Given the description of an element on the screen output the (x, y) to click on. 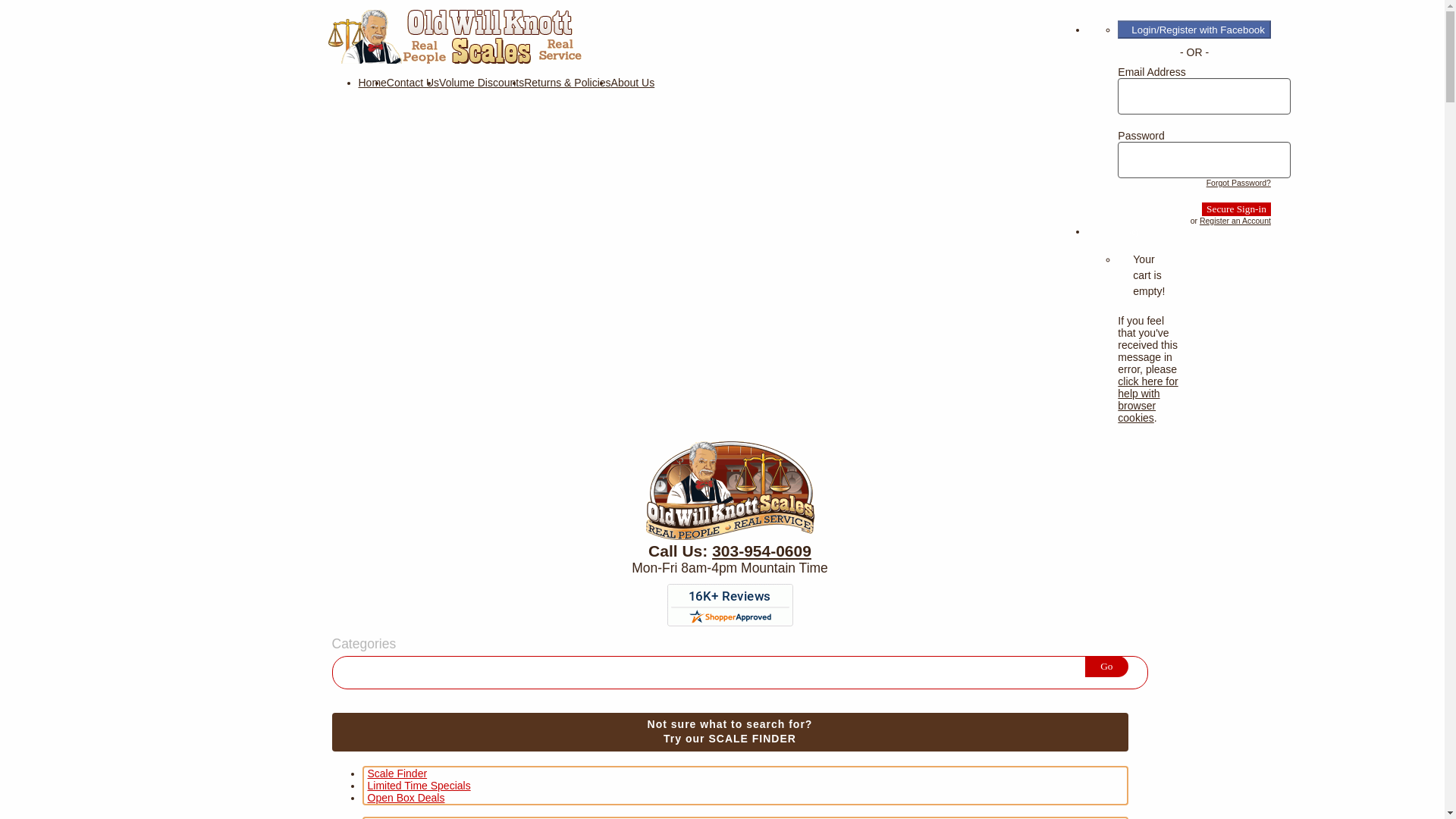
Help with Cookies (1147, 399)
Categories (363, 643)
Forgot Password? (1239, 182)
Home (729, 731)
Secure Sign-in (371, 82)
Scale Finder (1236, 209)
303-954-0609 (396, 773)
Secure Sign-in (760, 550)
Volume Discounts (1236, 209)
Register an Account (481, 82)
About Us (1235, 220)
Go to the homepage (633, 82)
Go to our ''about us'' page (453, 60)
Limited Time Specials (633, 82)
